Given the description of an element on the screen output the (x, y) to click on. 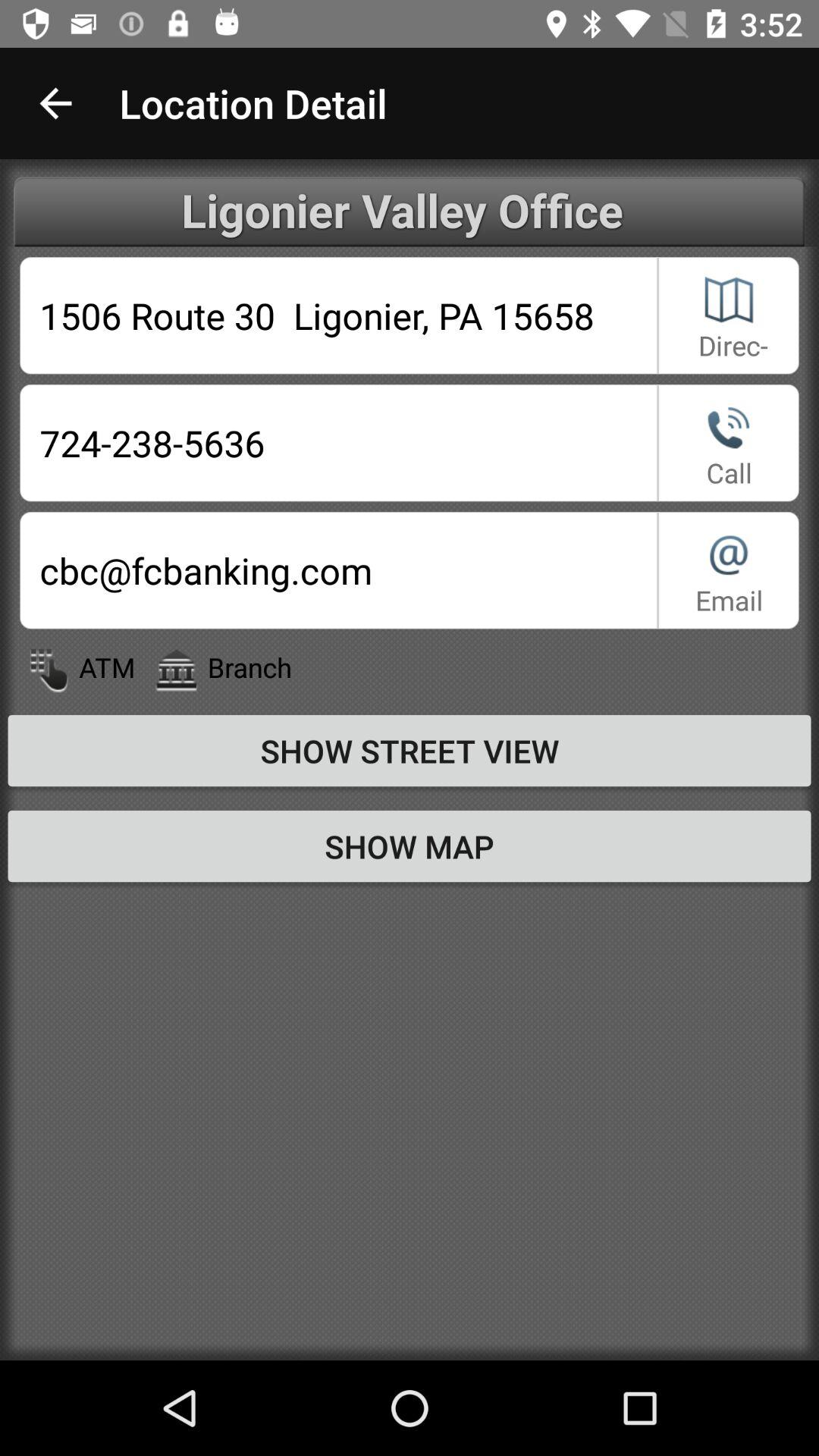
tap the show map item (409, 846)
